Given the description of an element on the screen output the (x, y) to click on. 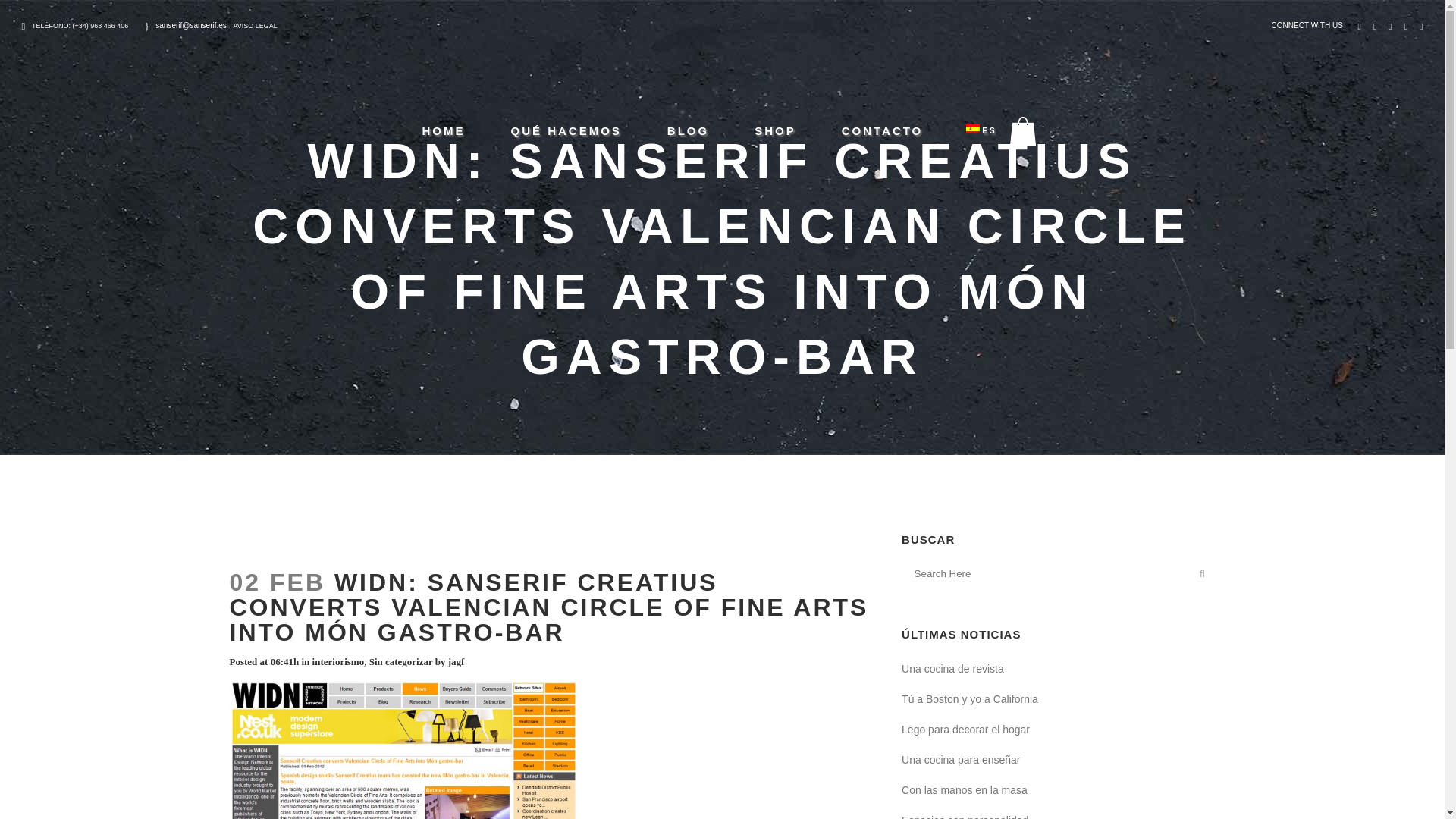
ES (972, 130)
jagf (456, 661)
AVISO LEGAL (254, 25)
BLOG (688, 130)
SHOP (775, 130)
HOME (442, 130)
0 (1026, 131)
CONTACTO (882, 130)
Es (972, 130)
Es (972, 128)
